Given the description of an element on the screen output the (x, y) to click on. 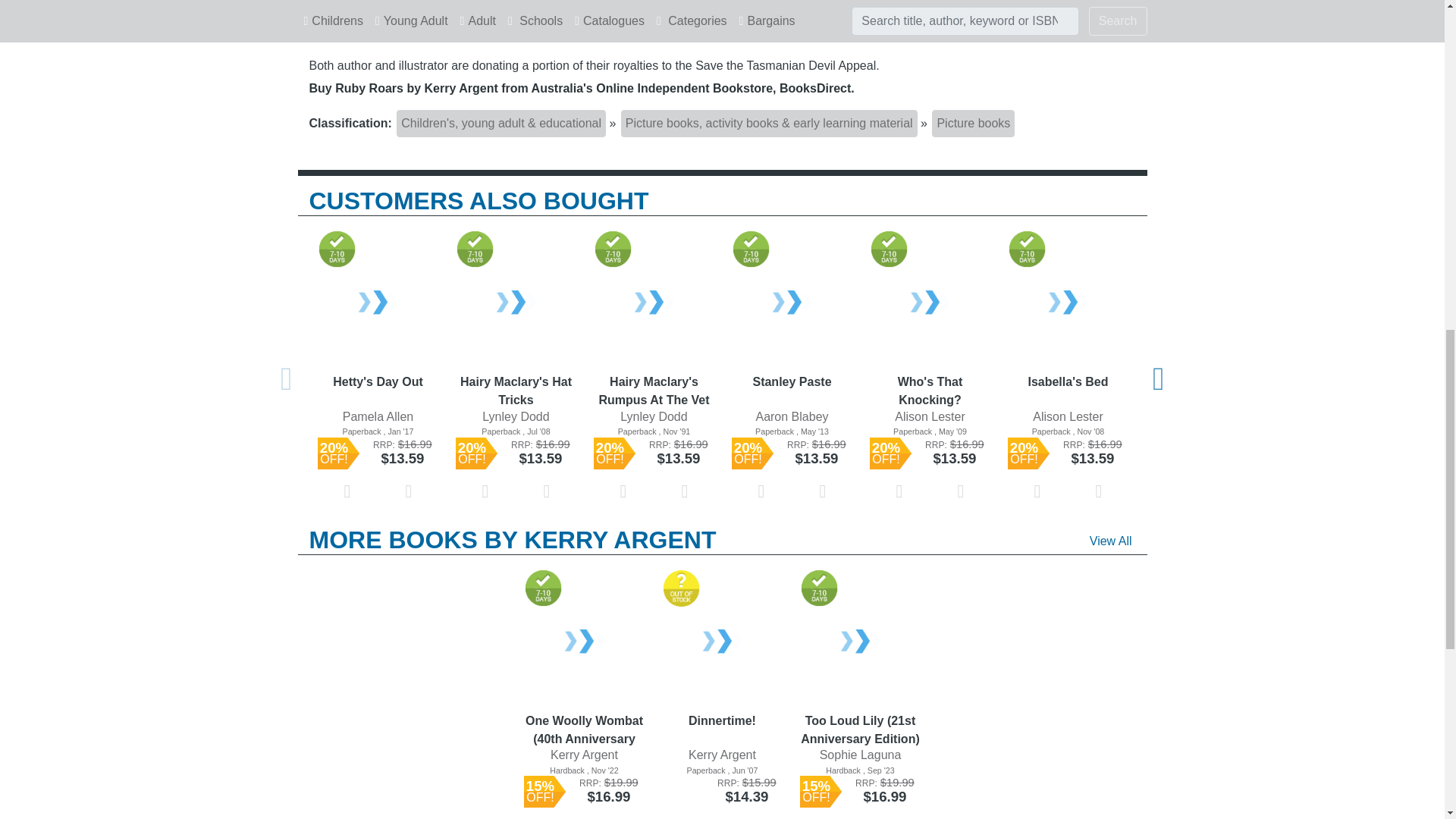
Hairy Maclary's Hat Tricks (516, 390)
Lynley Dodd (516, 416)
Hairy Maclary's Hat Tricks (516, 304)
Pamela Allen (378, 416)
Hetty's Day Out (378, 390)
View other books by author Pamela Allen (377, 416)
View other books by author Lynley Dodd (514, 416)
Hetty's Day Out (378, 304)
